Given the description of an element on the screen output the (x, y) to click on. 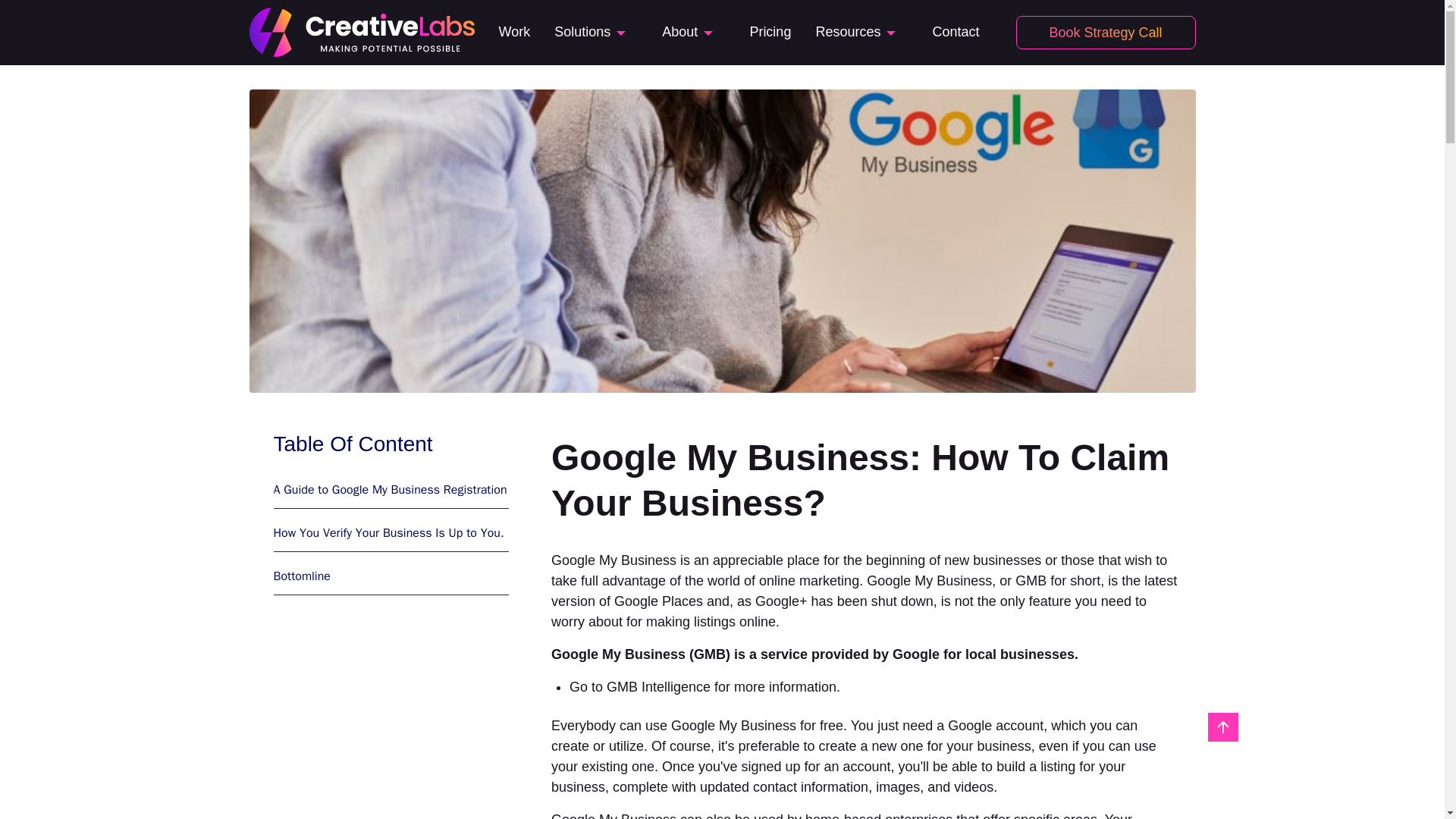
A Guide to Google My Business Registration (390, 489)
Bottomline (390, 576)
How You Verify Your Business Is Up to You. (390, 533)
Pricing (769, 32)
Contact (954, 32)
Book Strategy Call (1105, 32)
Work (515, 32)
